Given the description of an element on the screen output the (x, y) to click on. 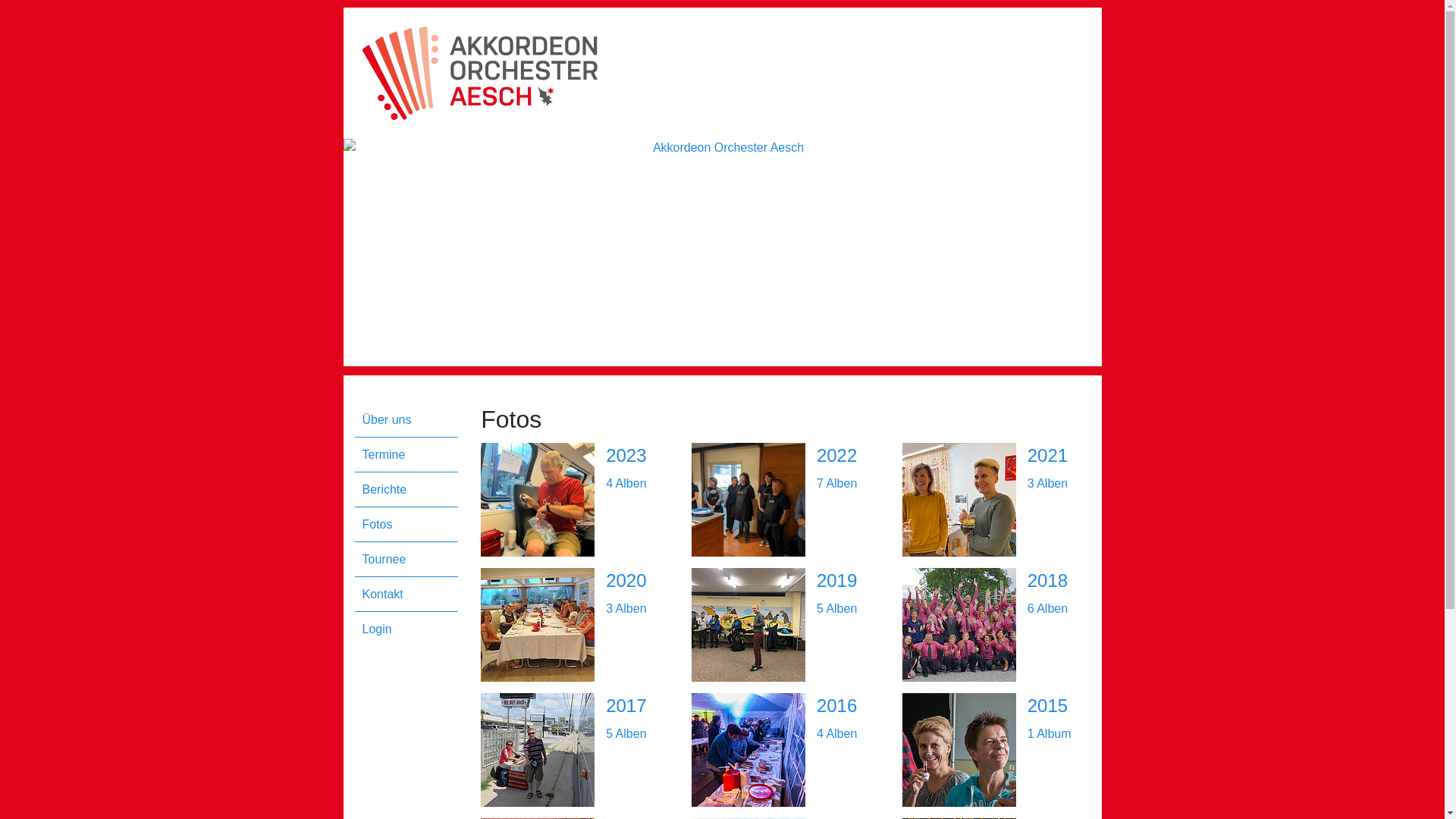
Termine Element type: text (410, 454)
Akkordeon Orchester Aesch Element type: hover (721, 252)
Berichte Element type: text (410, 489)
Fotos Element type: text (410, 524)
Akkordeon Orchester Aesch Element type: hover (479, 72)
Kontakt Element type: text (410, 594)
Tournee Element type: text (410, 559)
Login Element type: text (410, 628)
